Given the description of an element on the screen output the (x, y) to click on. 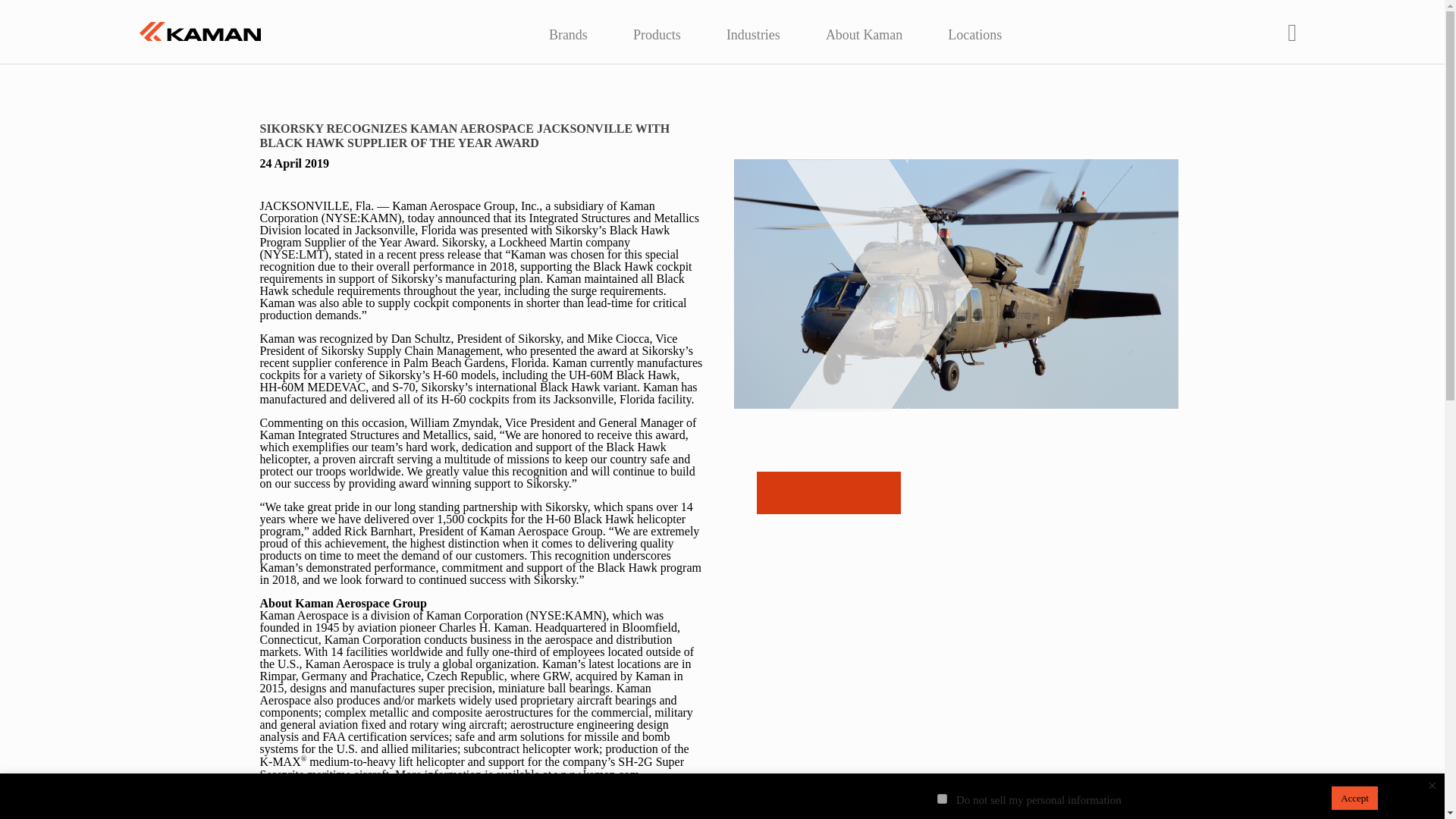
Kaman Corporation (199, 32)
Industries (753, 30)
Locations (974, 30)
Products (656, 30)
Brands (567, 30)
Brands (567, 30)
on (942, 798)
About Kaman (863, 30)
